Given the description of an element on the screen output the (x, y) to click on. 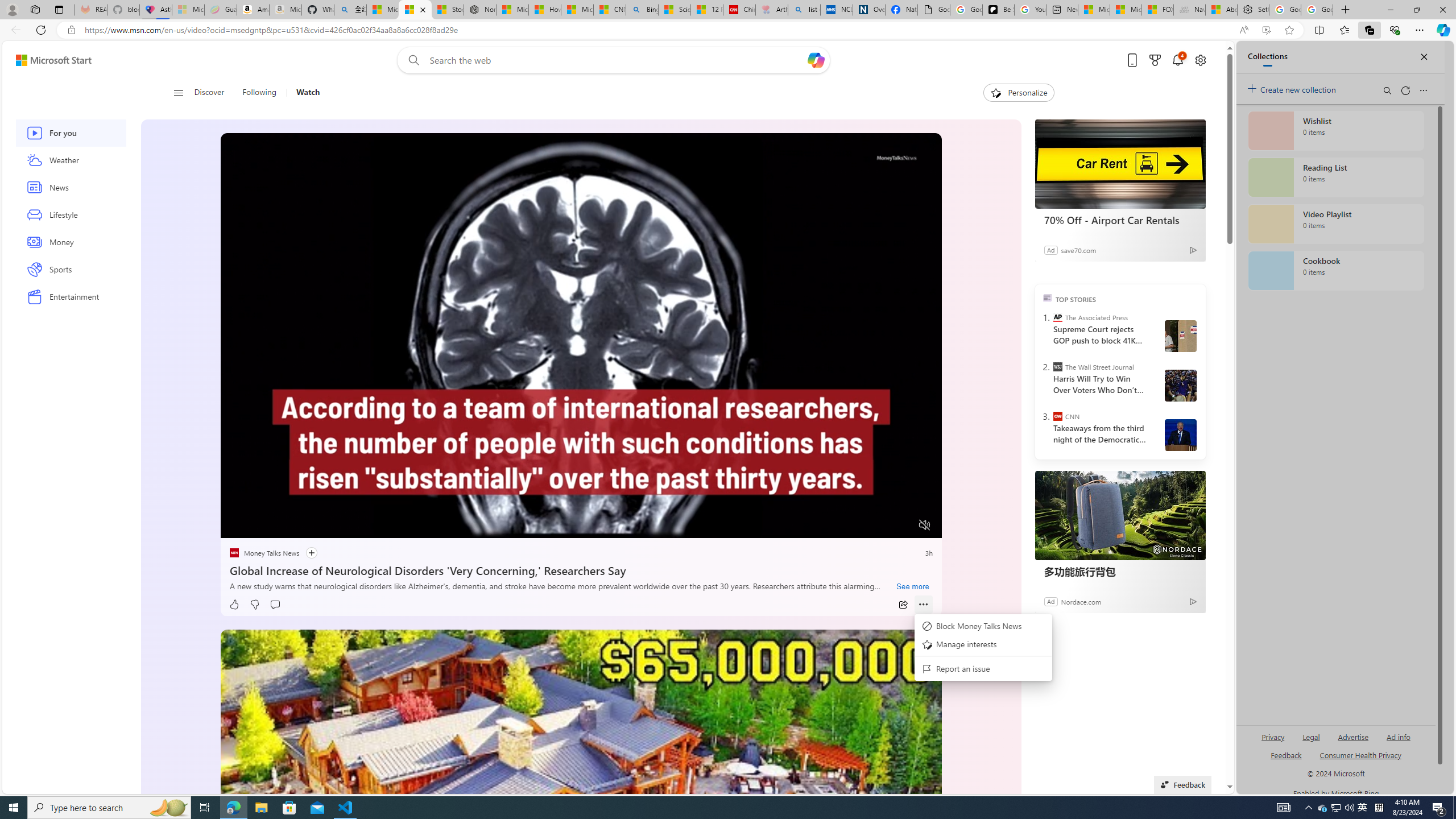
Follow (305, 553)
Google Analytics Opt-out Browser Add-on Download Page (933, 9)
